Given the description of an element on the screen output the (x, y) to click on. 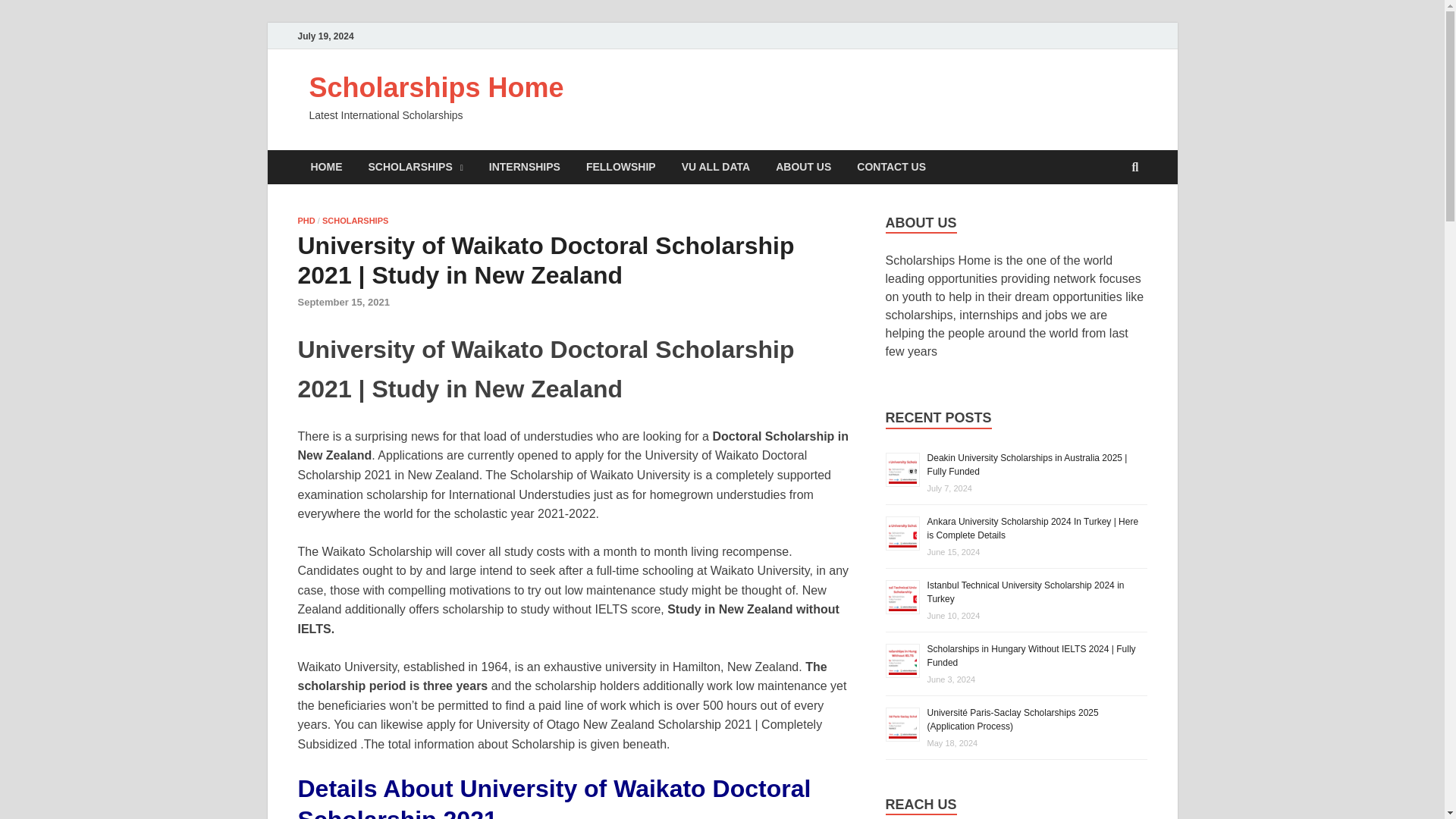
FELLOWSHIP (620, 166)
September 15, 2021 (342, 301)
SCHOLARSHIPS (354, 220)
Scholarships Home (436, 87)
VU ALL DATA (715, 166)
HOME (326, 166)
INTERNSHIPS (524, 166)
SCHOLARSHIPS (415, 166)
PHD (305, 220)
ABOUT US (803, 166)
CONTACT US (891, 166)
